Given the description of an element on the screen output the (x, y) to click on. 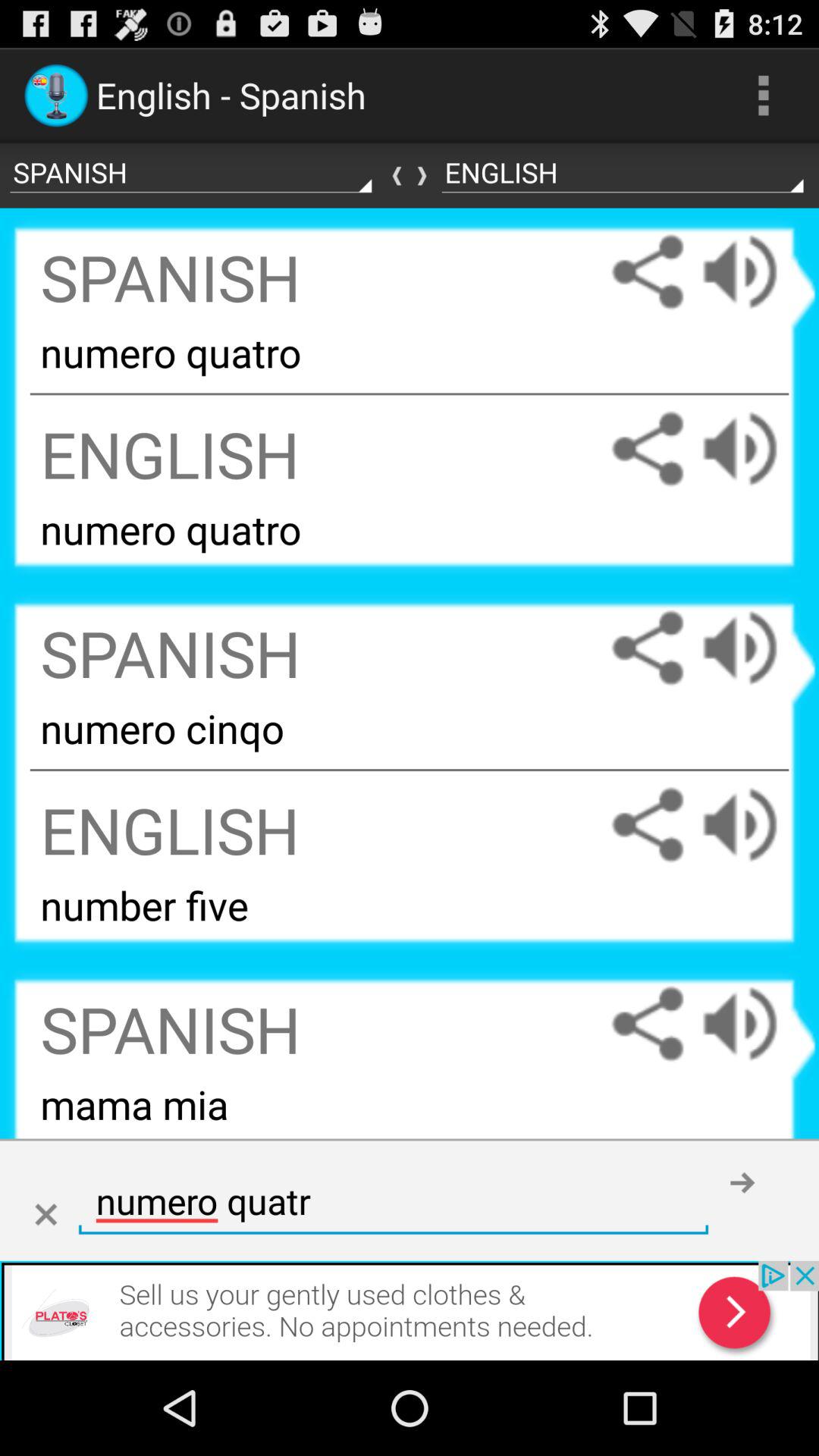
increase volume (754, 824)
